Given the description of an element on the screen output the (x, y) to click on. 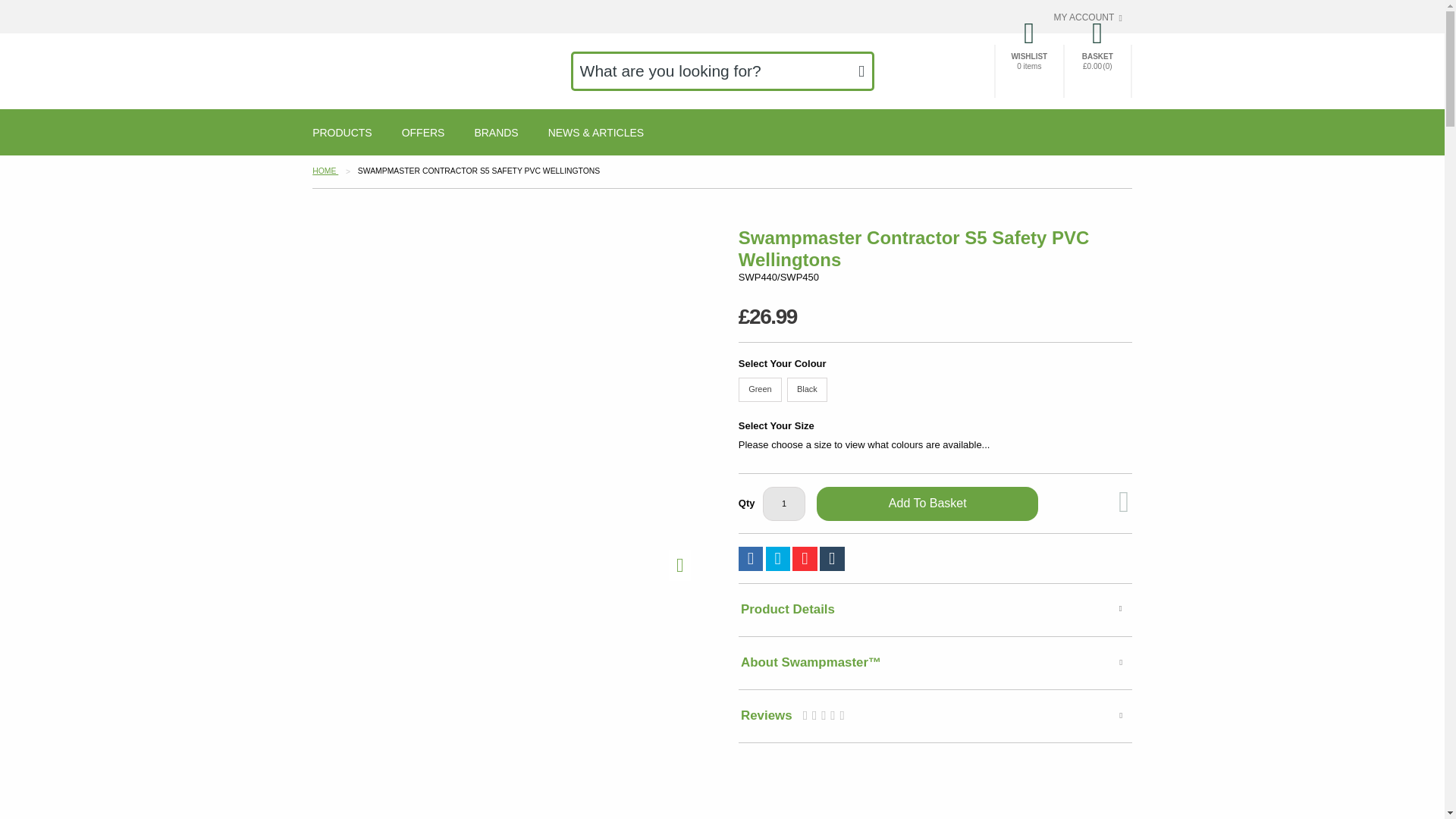
1 (783, 503)
